Given the description of an element on the screen output the (x, y) to click on. 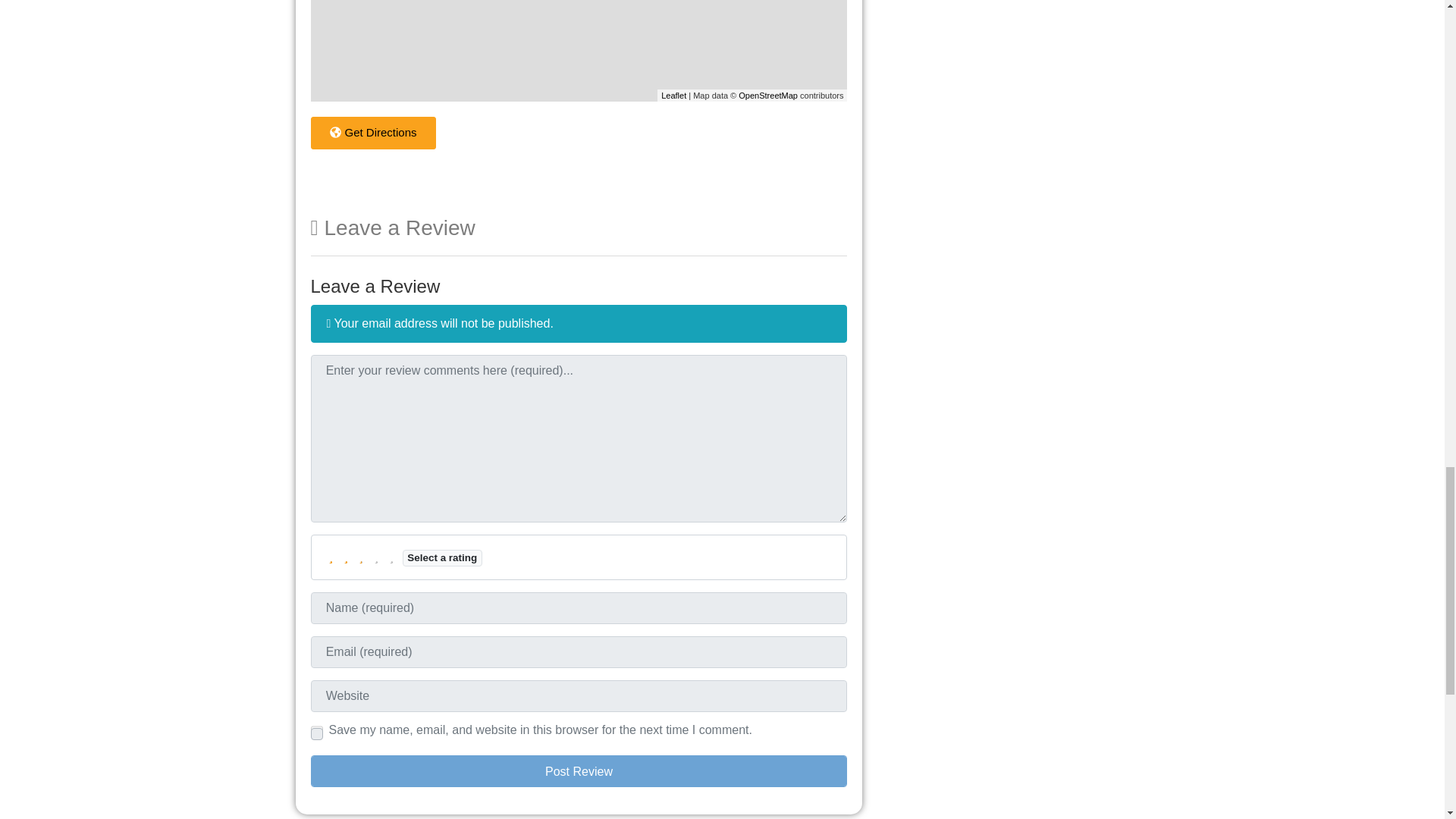
Poor (345, 557)
Post Review (579, 771)
A JS library for interactive maps (673, 94)
Very Good (376, 557)
Excellent (391, 557)
Average (360, 557)
Terrible (330, 557)
